Given the description of an element on the screen output the (x, y) to click on. 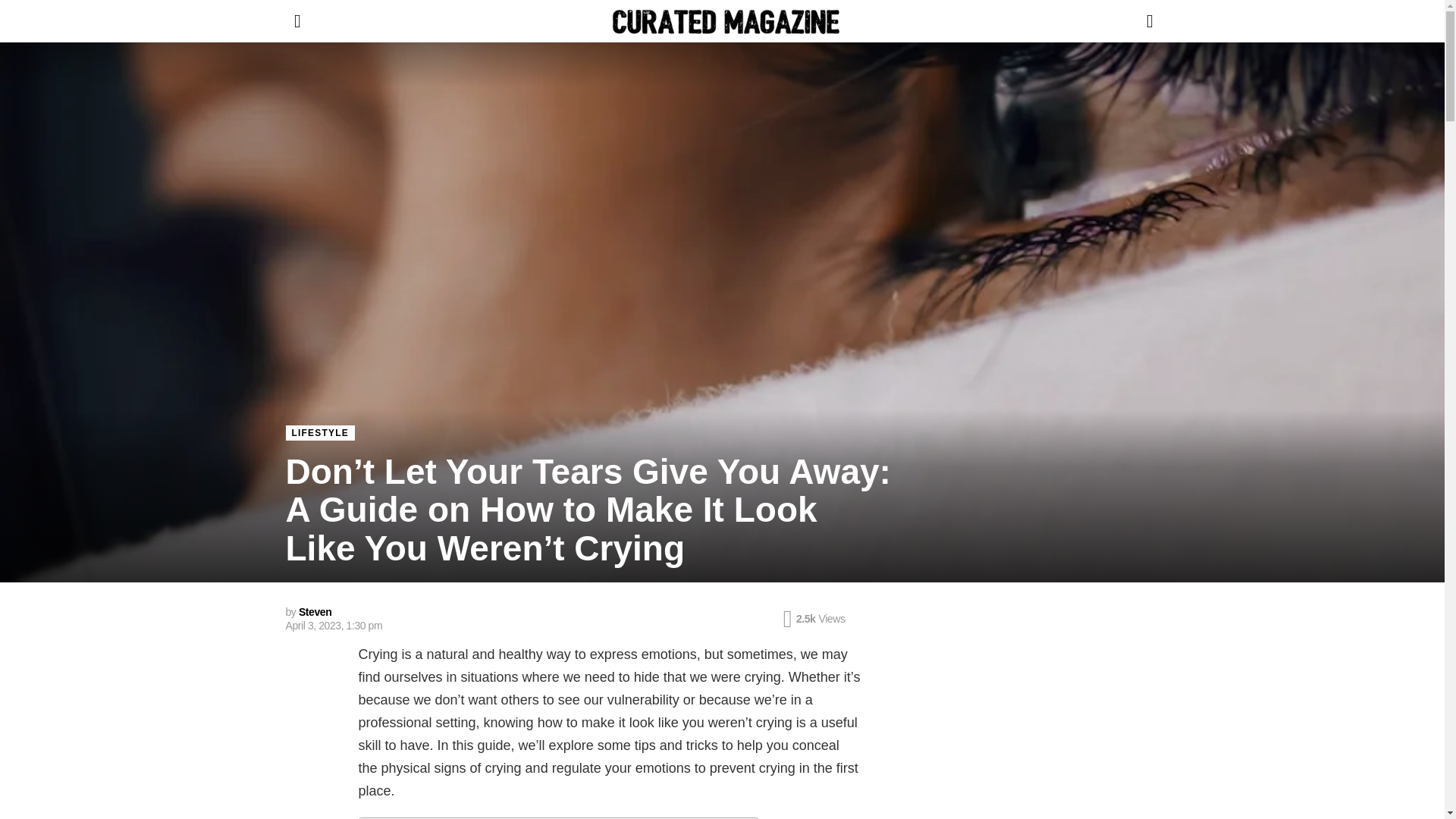
Menu (296, 21)
Posts by Steven (314, 612)
LIFESTYLE (319, 432)
Steven (314, 612)
